Given the description of an element on the screen output the (x, y) to click on. 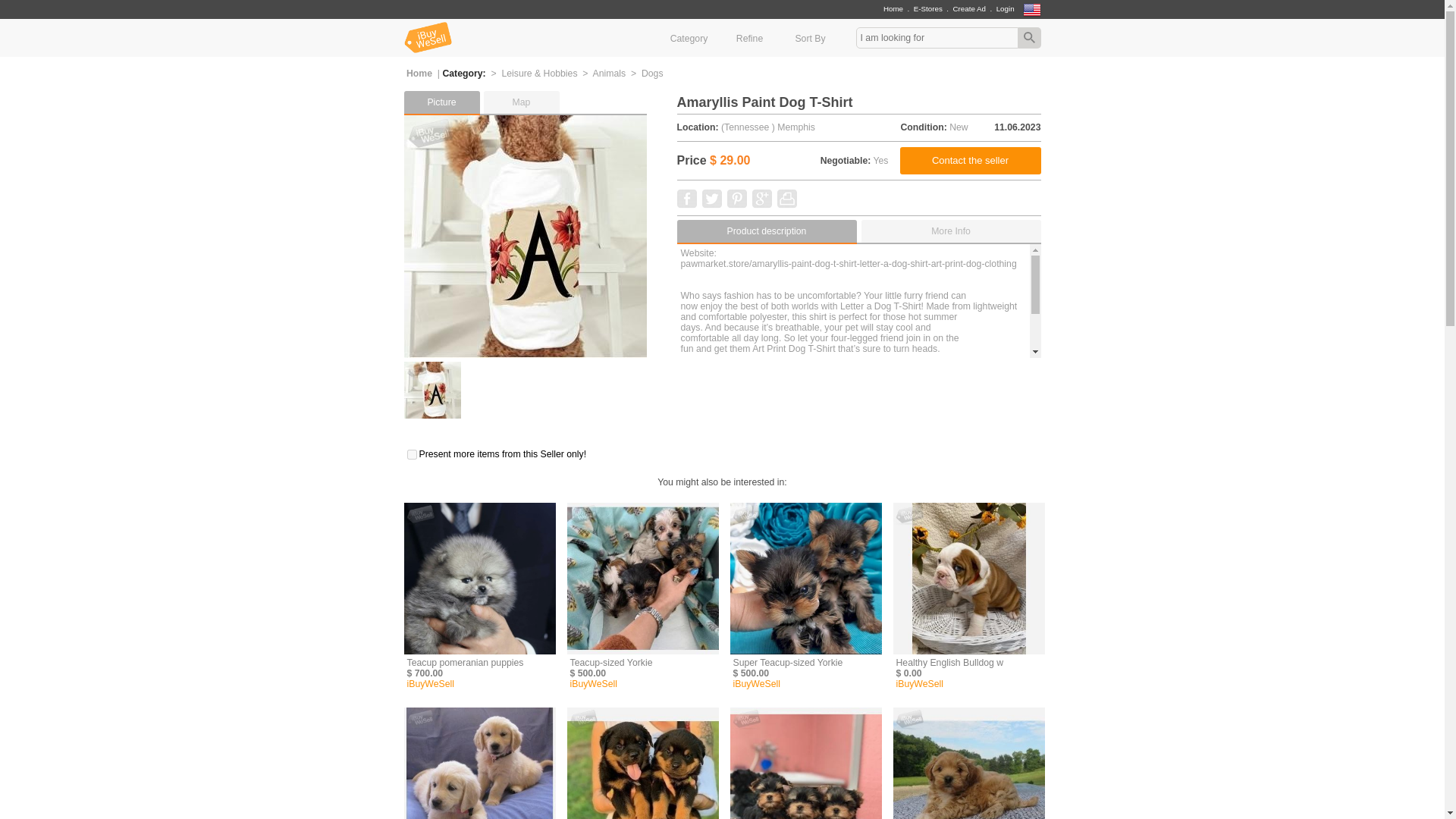
Print this Ad (786, 204)
Share on Pinterest (735, 198)
Share on Twitter (711, 204)
E-Stores (928, 8)
Share on Facebook (686, 204)
Login (1004, 8)
Home (892, 8)
on (411, 454)
Create Ad (968, 8)
